Given the description of an element on the screen output the (x, y) to click on. 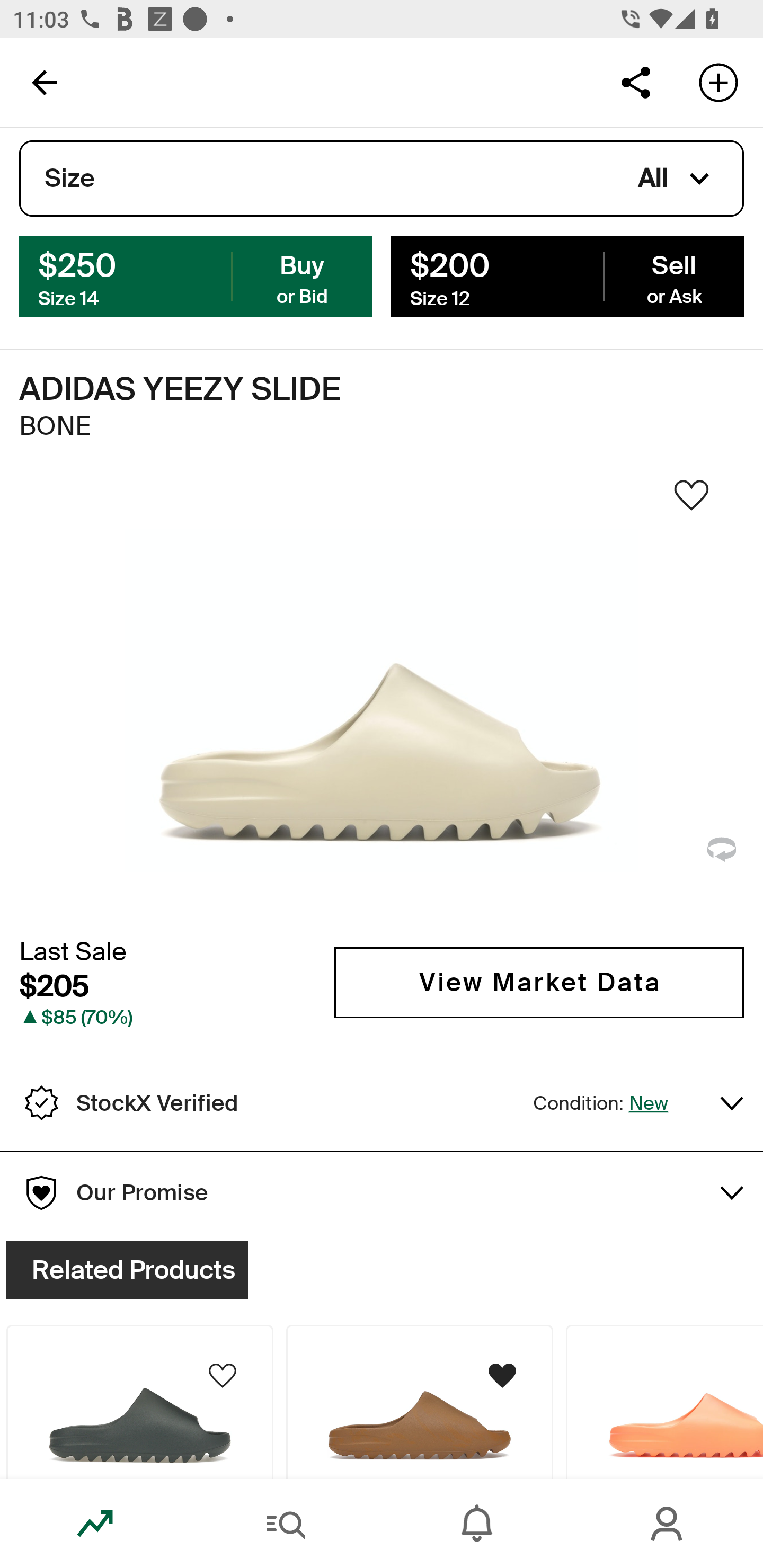
Share (635, 81)
Add (718, 81)
Size All (381, 178)
$82 Buy Size 4 or Bid (195, 275)
$122 Sell Size 15 or Ask (566, 275)
Sneaker Image (381, 699)
View Market Data (538, 982)
Product Image (139, 1401)
Product Image (419, 1401)
Product Image (664, 1401)
Search (285, 1523)
Inbox (476, 1523)
Account (667, 1523)
